Given the description of an element on the screen output the (x, y) to click on. 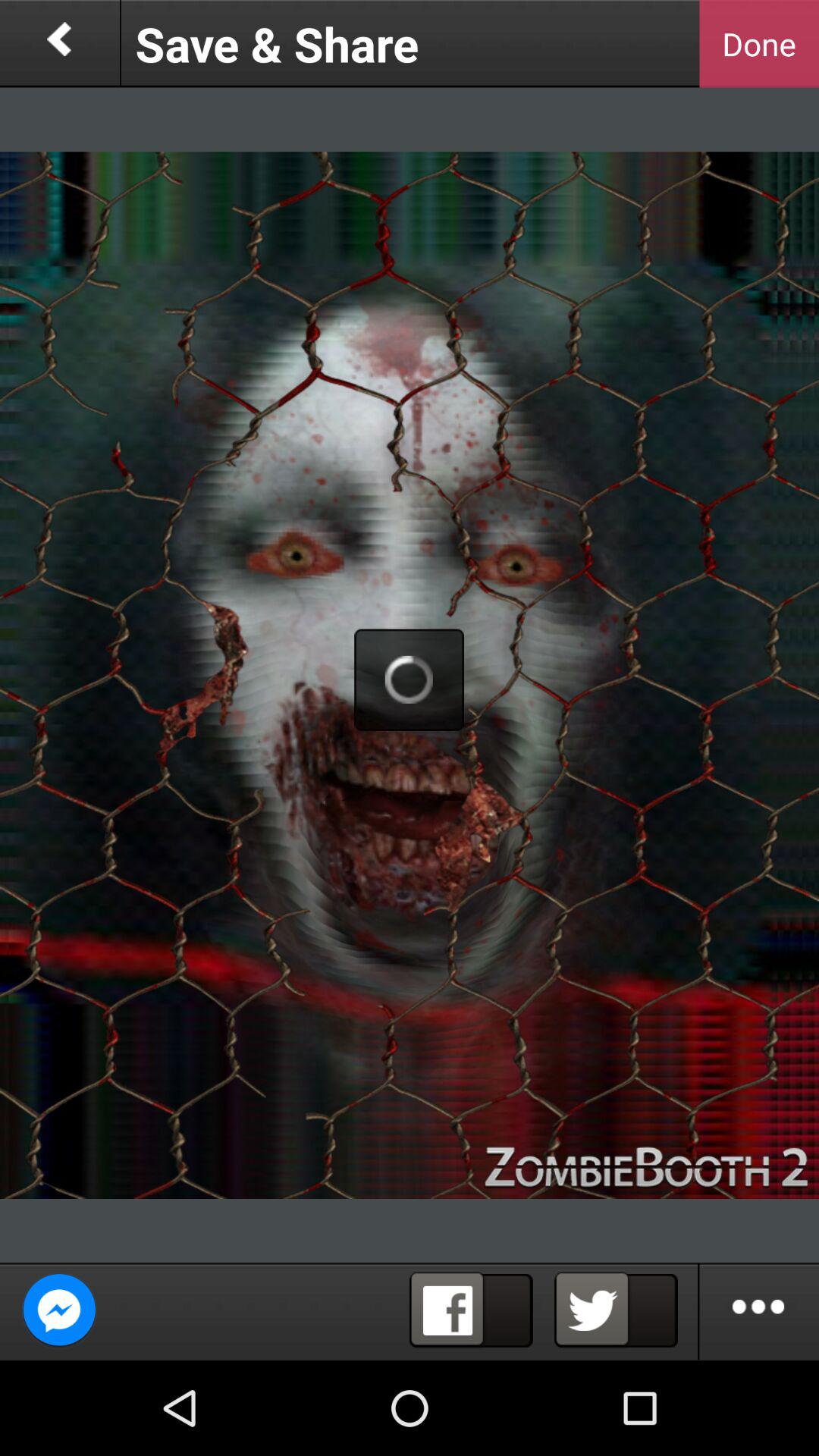
share on twitter (615, 1310)
